Given the description of an element on the screen output the (x, y) to click on. 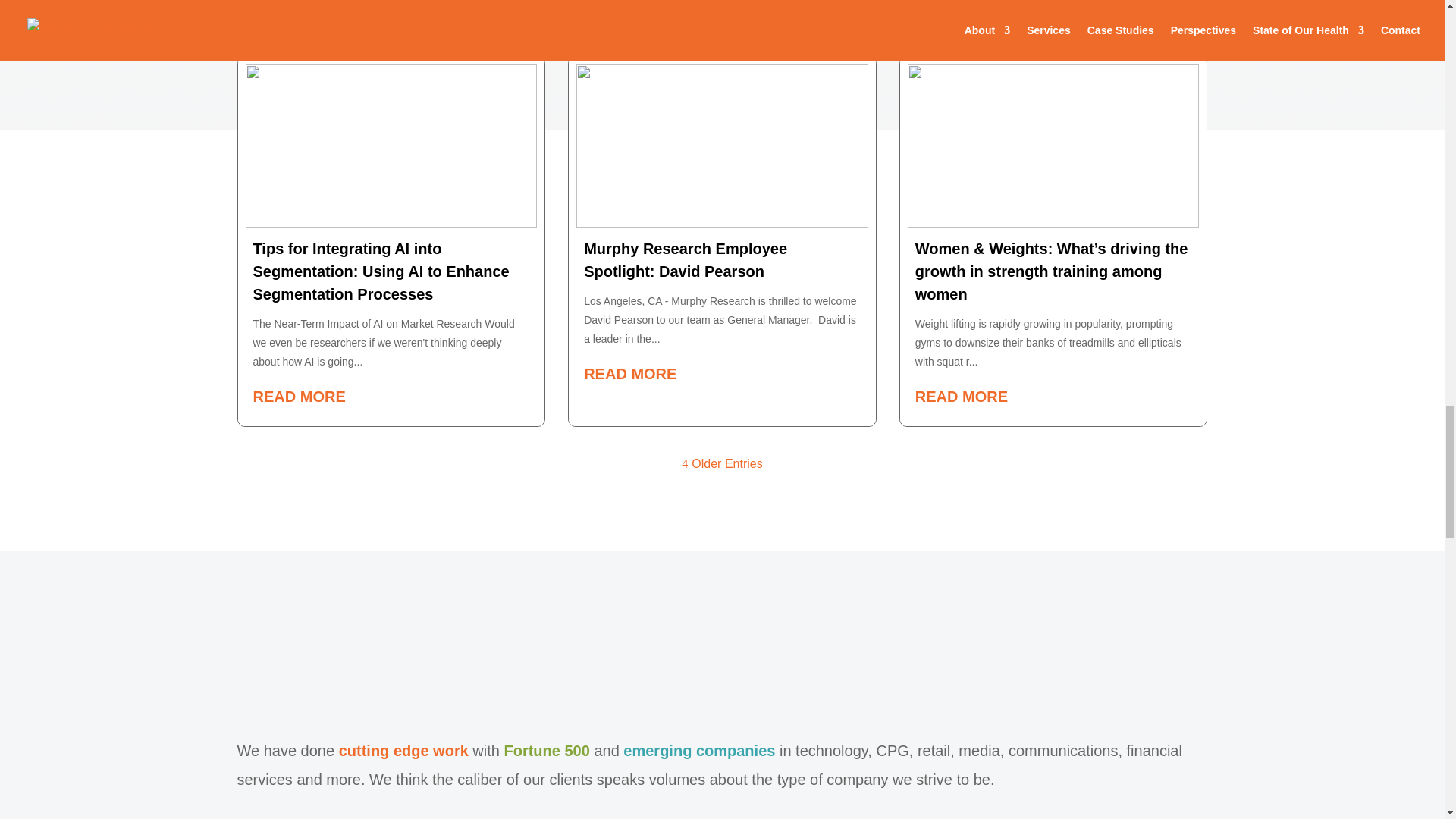
READ MORE (725, 372)
READ MORE (1057, 395)
Older Entries (721, 463)
READ MORE (395, 395)
Murphy Research Employee Spotlight: David Pearson (685, 260)
